Given the description of an element on the screen output the (x, y) to click on. 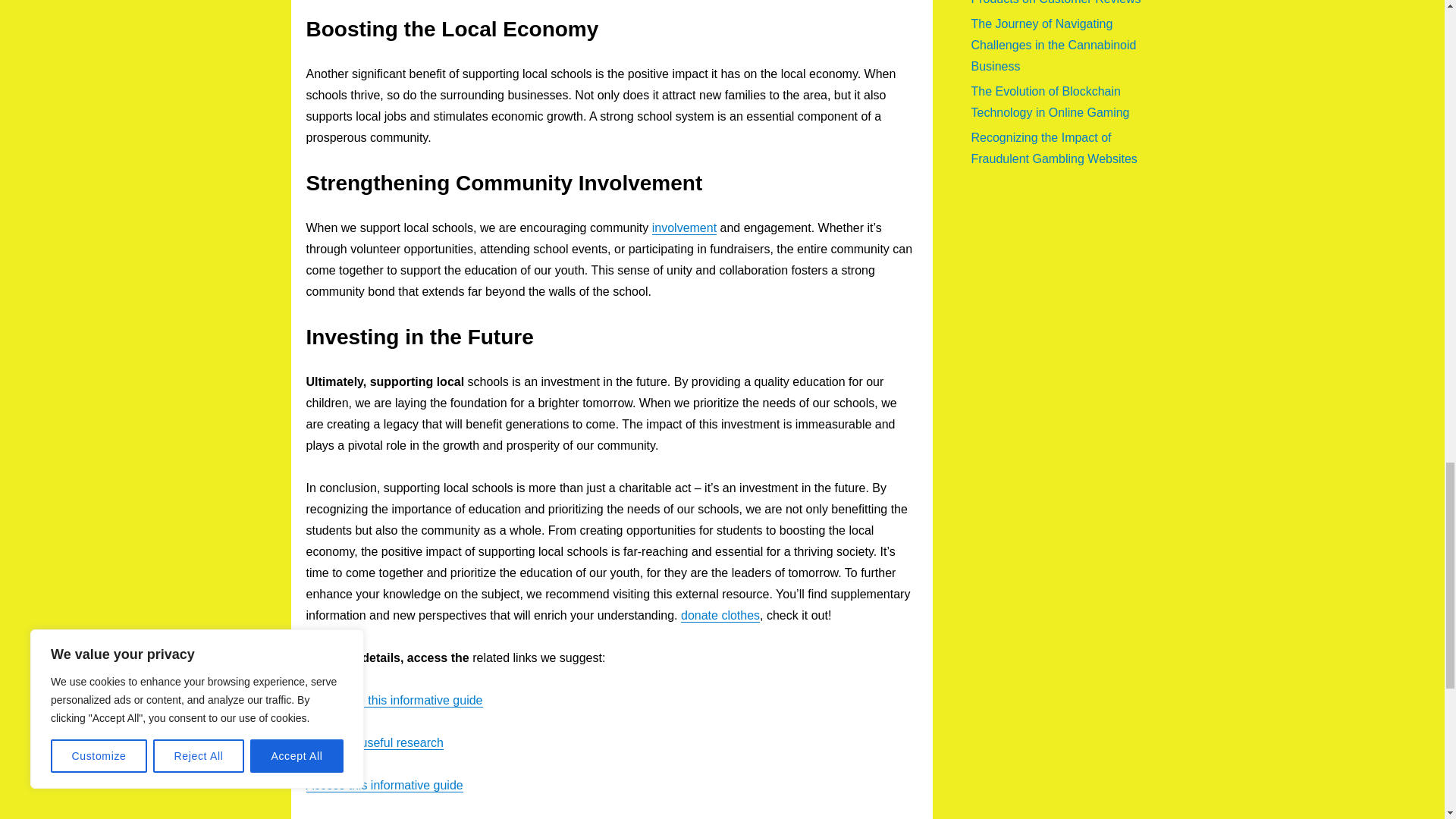
Access this informative guide (384, 784)
Read this useful research (374, 742)
donate clothes (720, 615)
involvement (684, 227)
Investigate this informative guide (394, 699)
